Given the description of an element on the screen output the (x, y) to click on. 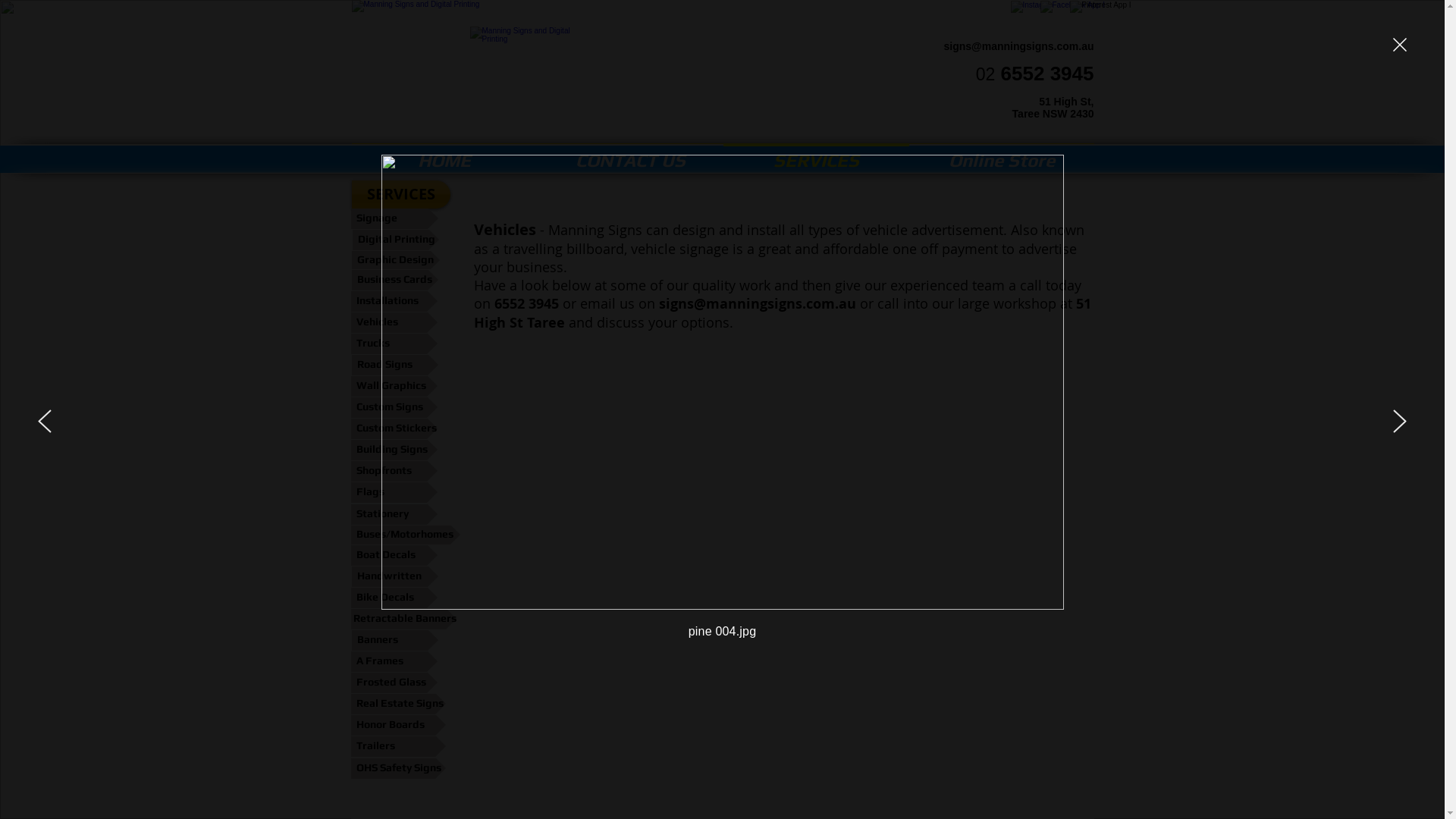
Stationery Element type: text (393, 513)
Online Store Element type: text (1000, 153)
6552 3945 Element type: text (526, 303)
Honor Boards Element type: text (397, 724)
SERVICES Element type: text (816, 153)
Vehicles Element type: text (393, 322)
Banners Element type: text (394, 639)
Shopfronts Element type: text (393, 471)
CONTACT US Element type: text (629, 153)
Handwritten Element type: text (394, 575)
Boat Decals Element type: text (393, 554)
Trailers Element type: text (397, 745)
HOME Element type: text (444, 153)
Frosted Glass Element type: text (393, 681)
OHS Safety Signs Element type: text (397, 768)
Custom Stickers Element type: text (393, 428)
Business Cards Element type: text (394, 279)
signs@manningsigns.com.au Element type: text (1018, 46)
Road Signs Element type: text (394, 364)
Retractable Banners Element type: text (402, 618)
Manning_Signs1_edited.png Element type: hover (610, 72)
Custom Signs Element type: text (393, 407)
signs@manningsigns.com.au Element type: text (756, 303)
Building Signs Element type: text (393, 449)
Installations Element type: text (393, 301)
Flags Element type: text (393, 492)
Wall Graphics Element type: text (393, 386)
Real Estate Signs Element type: text (397, 703)
Trucks Element type: text (393, 343)
Signage Element type: text (393, 217)
A Frames Element type: text (393, 660)
Graphic Design Element type: text (395, 259)
Digital Printing Element type: text (394, 239)
SERVICES Element type: text (400, 194)
Buses/Motorhomes Element type: text (404, 533)
Bike Decals Element type: text (393, 596)
